Given the description of an element on the screen output the (x, y) to click on. 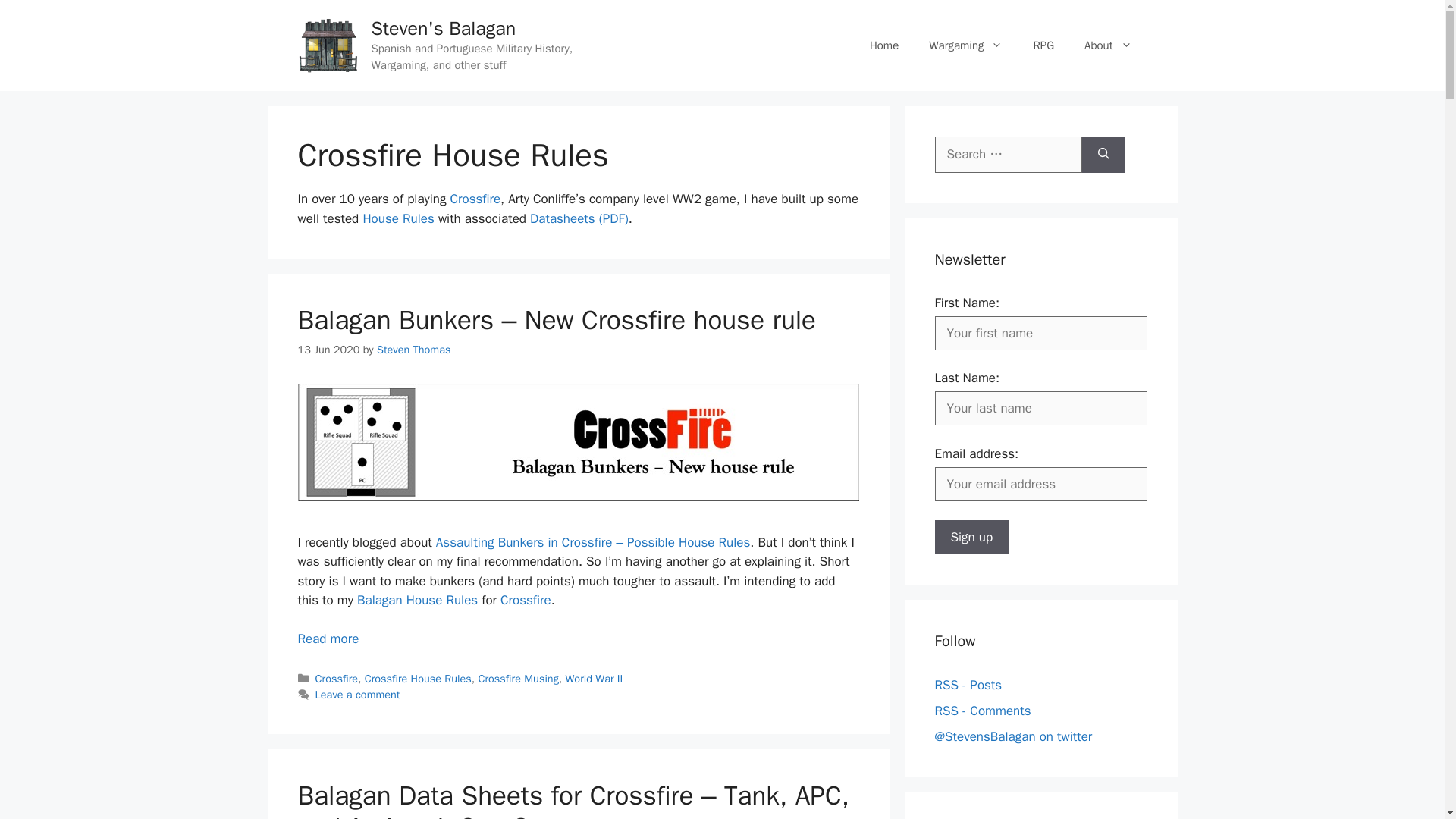
Home (884, 44)
Steven's Balagan (443, 28)
Crossfire (525, 600)
Crossfire House Rules (418, 678)
Read more (327, 638)
Crossfire Musing (517, 678)
Crossfire (474, 198)
Crossfire (336, 678)
About (1107, 44)
View all posts by Steven Thomas (413, 349)
World War II (594, 678)
RPG (1042, 44)
Balagan House Rules (416, 600)
House Rules (397, 218)
Sign up (971, 537)
